Given the description of an element on the screen output the (x, y) to click on. 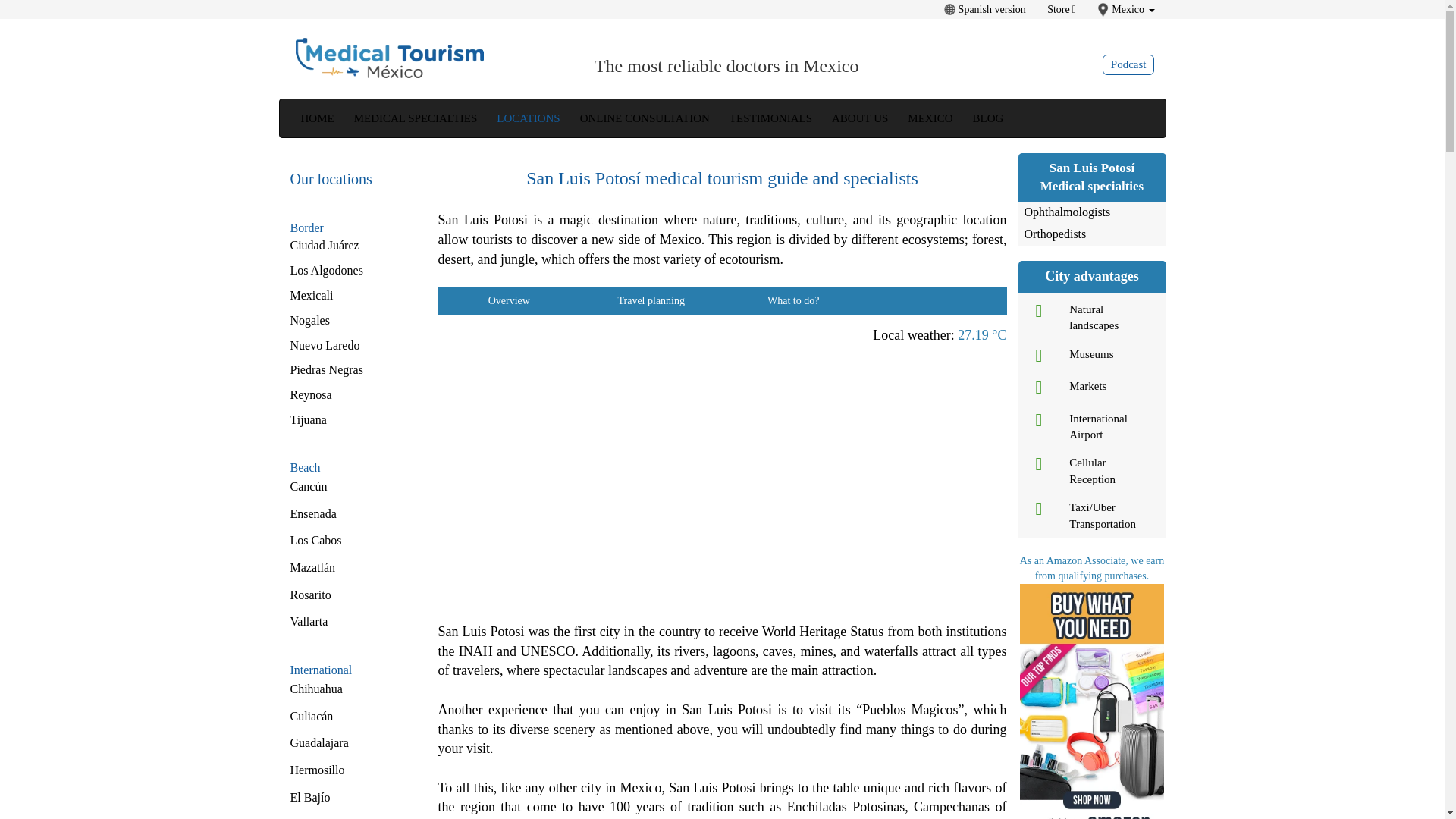
Spanish version (985, 9)
Los Algodones (325, 269)
Vallarta (308, 621)
Rosarito (309, 594)
BLOG (987, 118)
Ensenada (312, 513)
Nuevo Laredo (324, 345)
LOCATIONS (527, 118)
HOME (317, 118)
MEDICAL SPECIALTIES (415, 118)
